Given the description of an element on the screen output the (x, y) to click on. 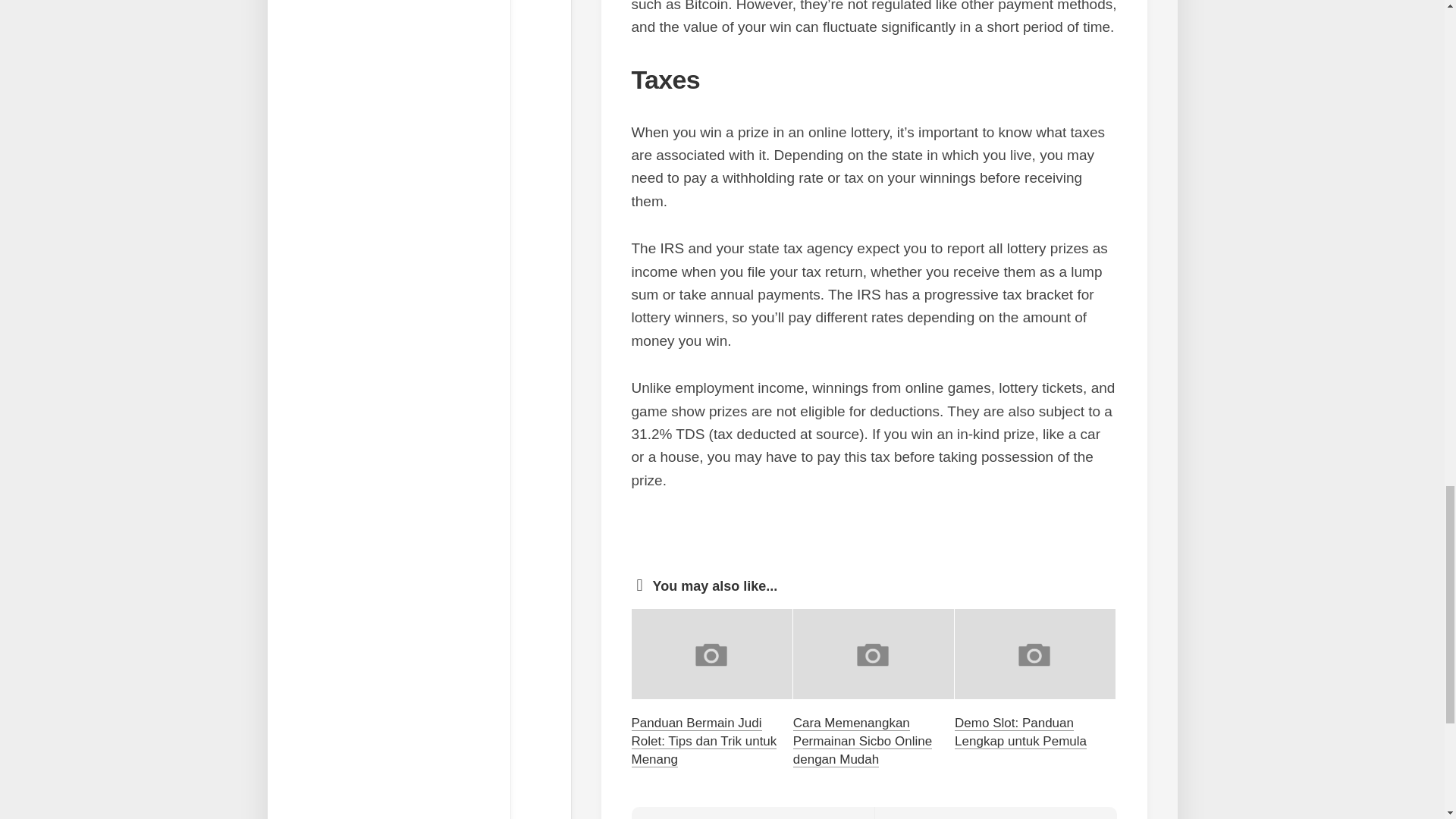
Panduan Bermain Judi Rolet: Tips dan Trik untuk Menang (703, 740)
Demo Slot: Panduan Lengkap untuk Pemula (751, 812)
Cara Memenangkan Permainan Sicbo Online dengan Mudah (1020, 731)
